Given the description of an element on the screen output the (x, y) to click on. 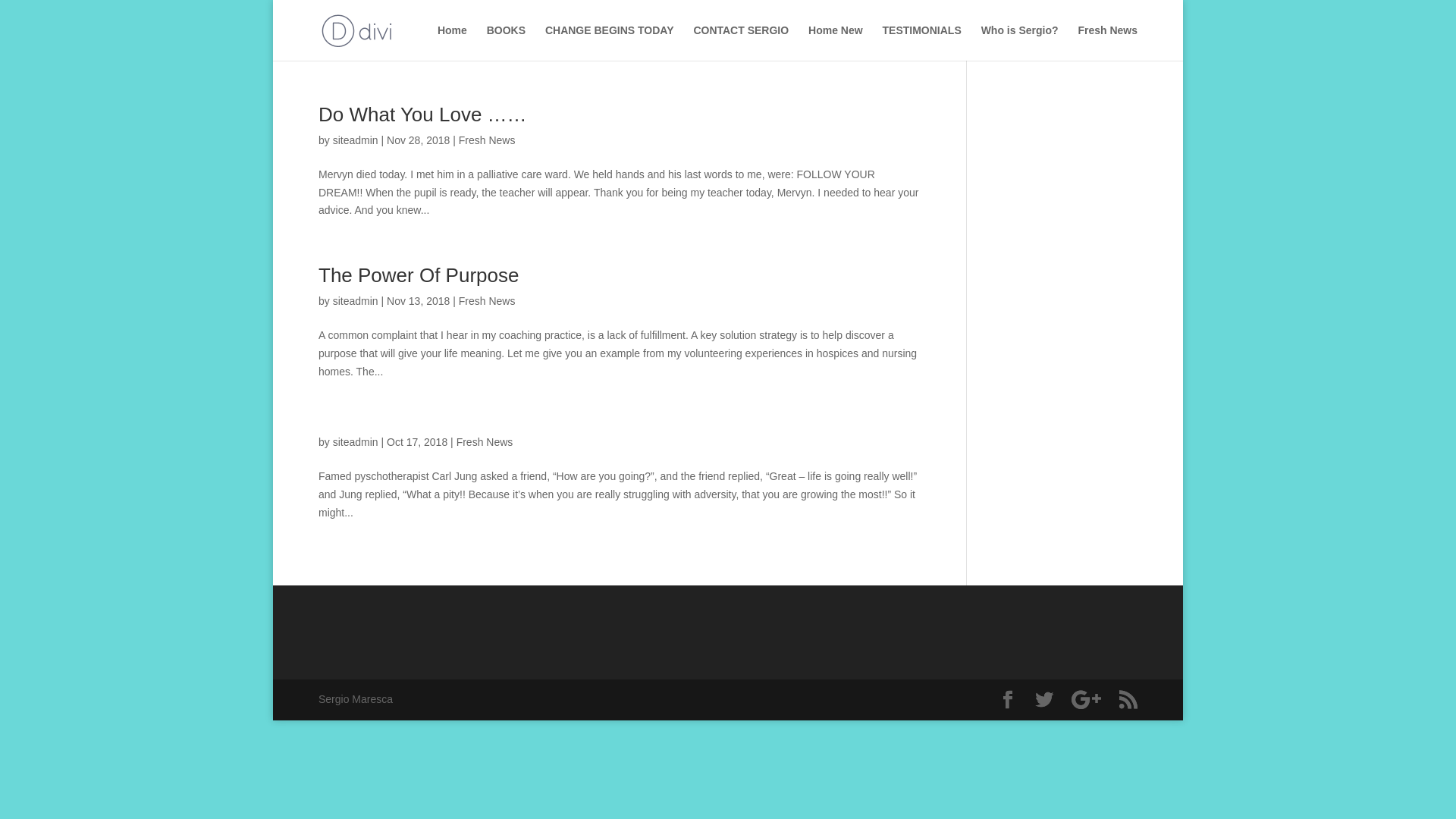
Fresh News Element type: text (486, 300)
siteadmin Element type: text (355, 140)
siteadmin Element type: text (355, 300)
siteadmin Element type: text (355, 442)
Fresh News Element type: text (486, 140)
CONTACT SERGIO Element type: text (740, 42)
Home Element type: text (452, 42)
TESTIMONIALS Element type: text (921, 42)
The Power Of Purpose Element type: text (418, 274)
CHANGE BEGINS TODAY Element type: text (609, 42)
Who is Sergio? Element type: text (1019, 42)
Fresh News Element type: text (1107, 42)
Home New Element type: text (835, 42)
BOOKS Element type: text (505, 42)
Fresh News Element type: text (484, 442)
